Given the description of an element on the screen output the (x, y) to click on. 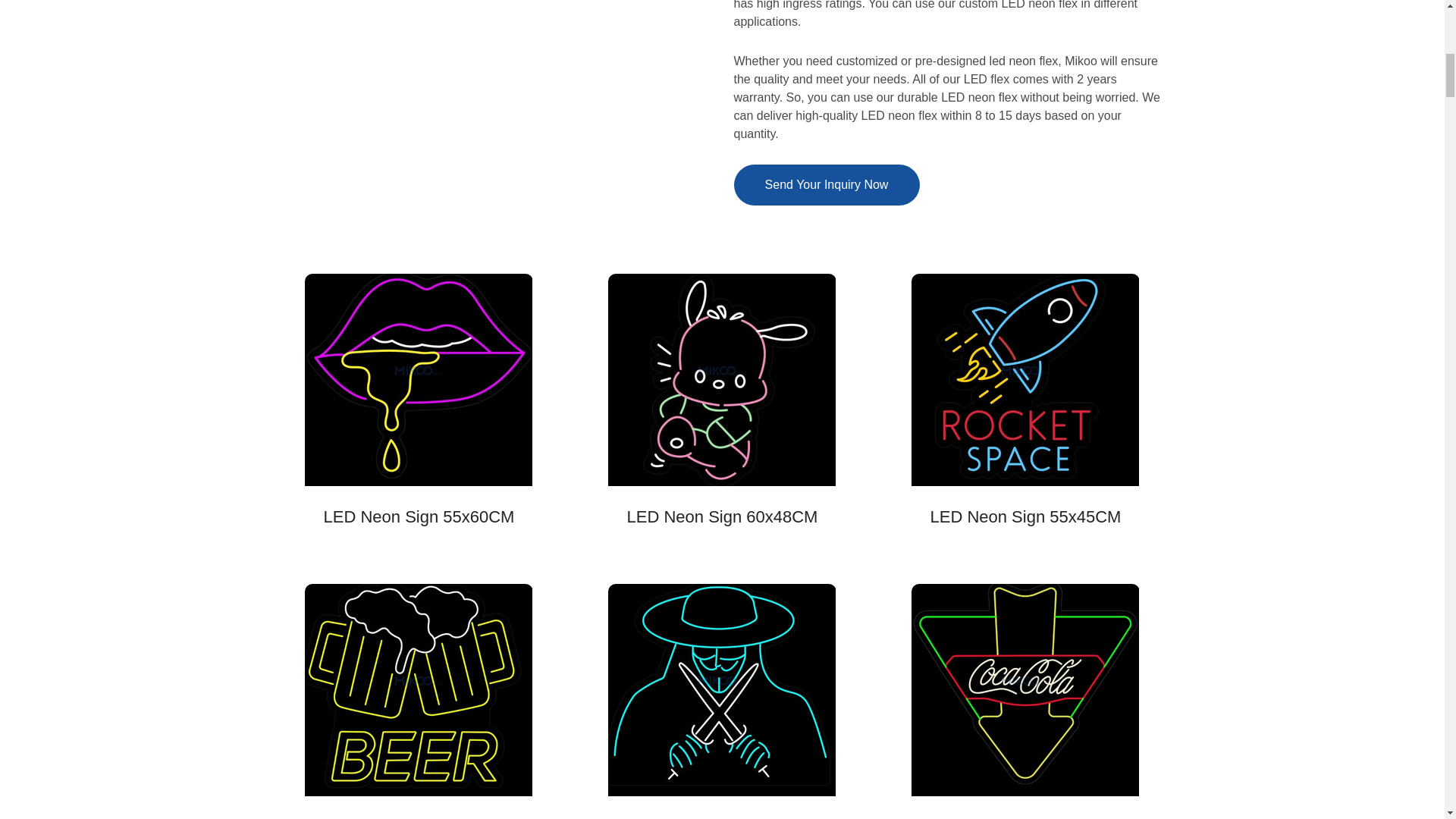
Send Your Inquiry Now (826, 184)
LED Neon Sign 55x60CM (419, 516)
LED Neon Sign 60x48CM (722, 516)
LED Neon Sign 55x45CM (1025, 516)
